Given the description of an element on the screen output the (x, y) to click on. 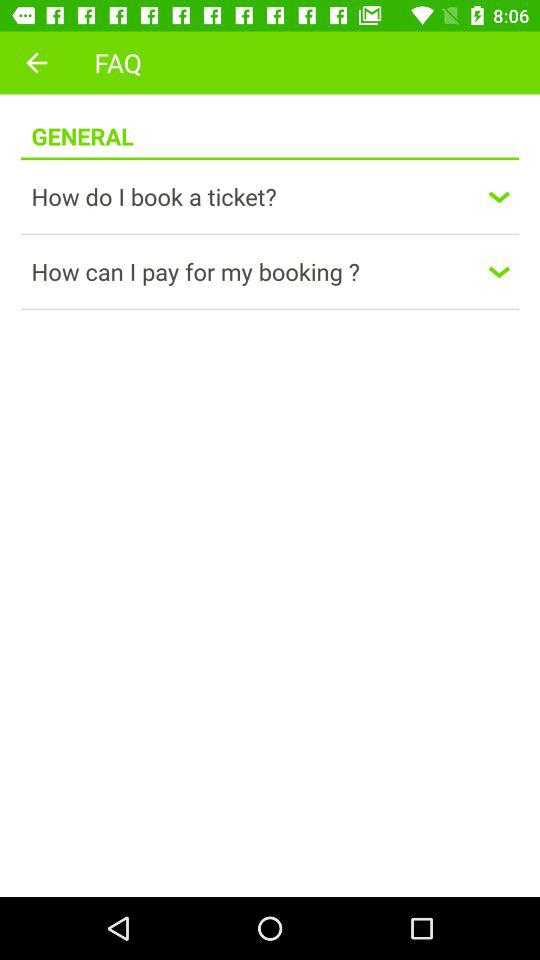
open icon above the how do i item (270, 158)
